Given the description of an element on the screen output the (x, y) to click on. 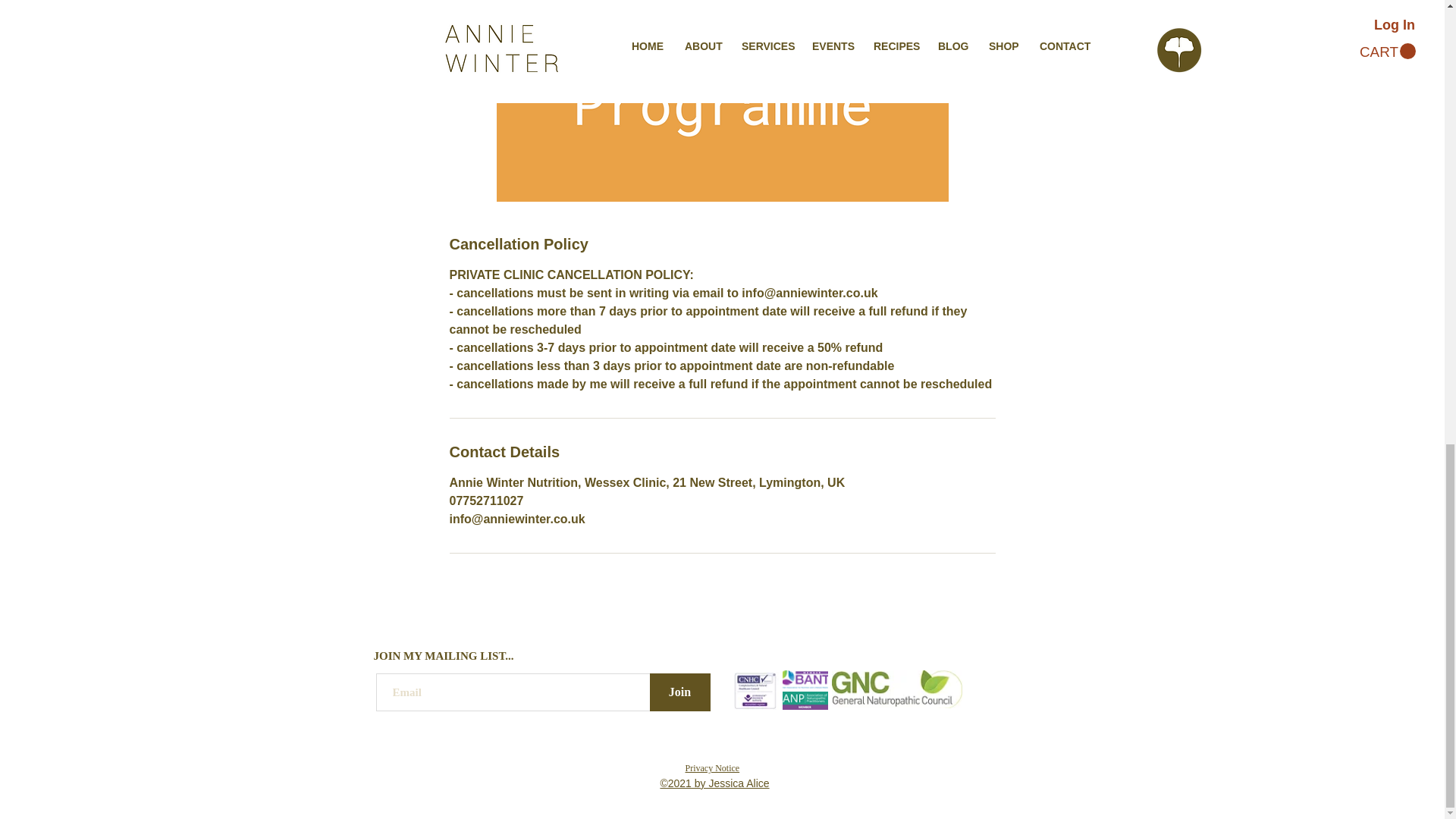
Join (679, 692)
Privacy Notice (712, 767)
